Given the description of an element on the screen output the (x, y) to click on. 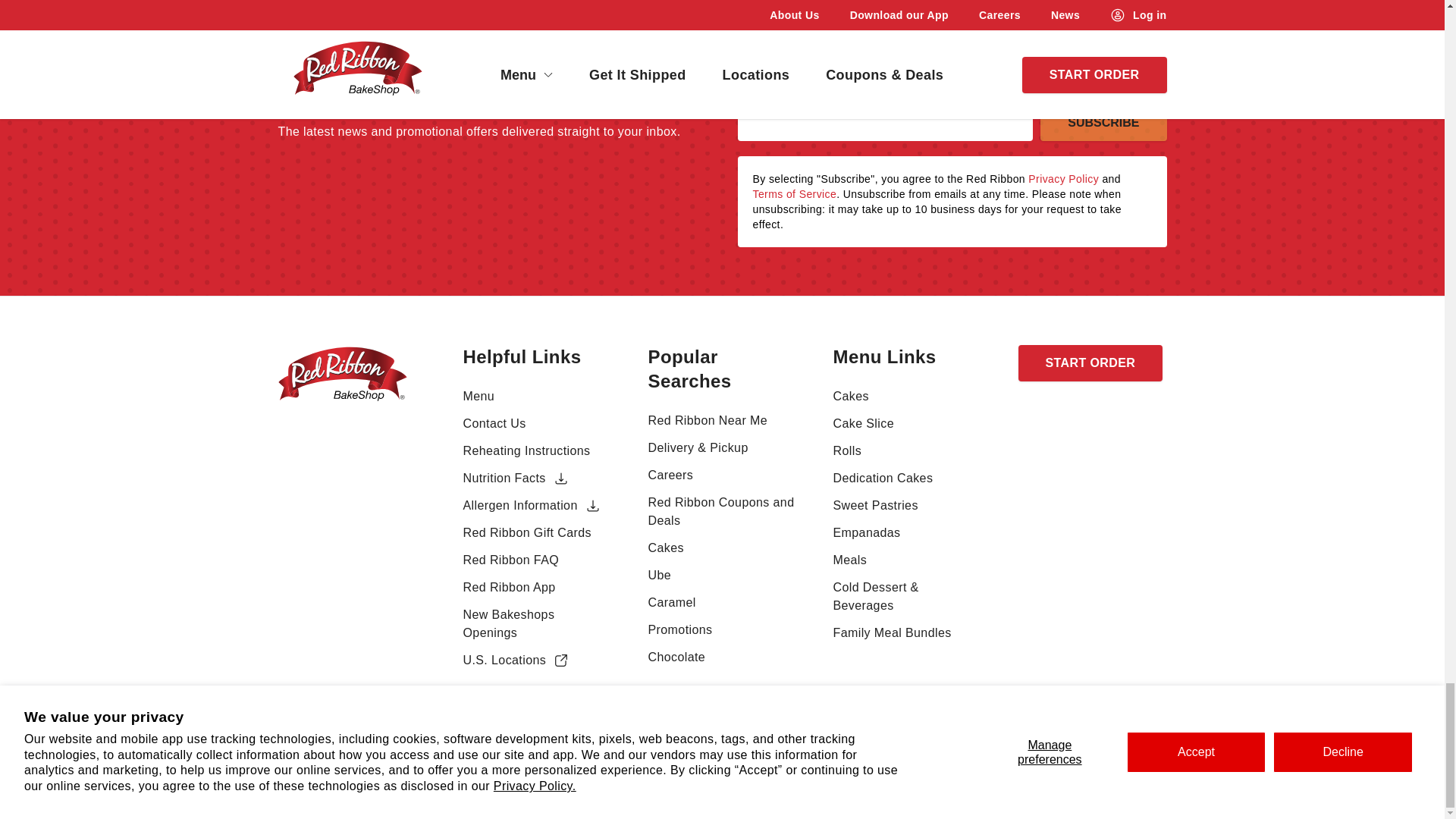
Red Ribbon Bakeshop (342, 404)
